Given the description of an element on the screen output the (x, y) to click on. 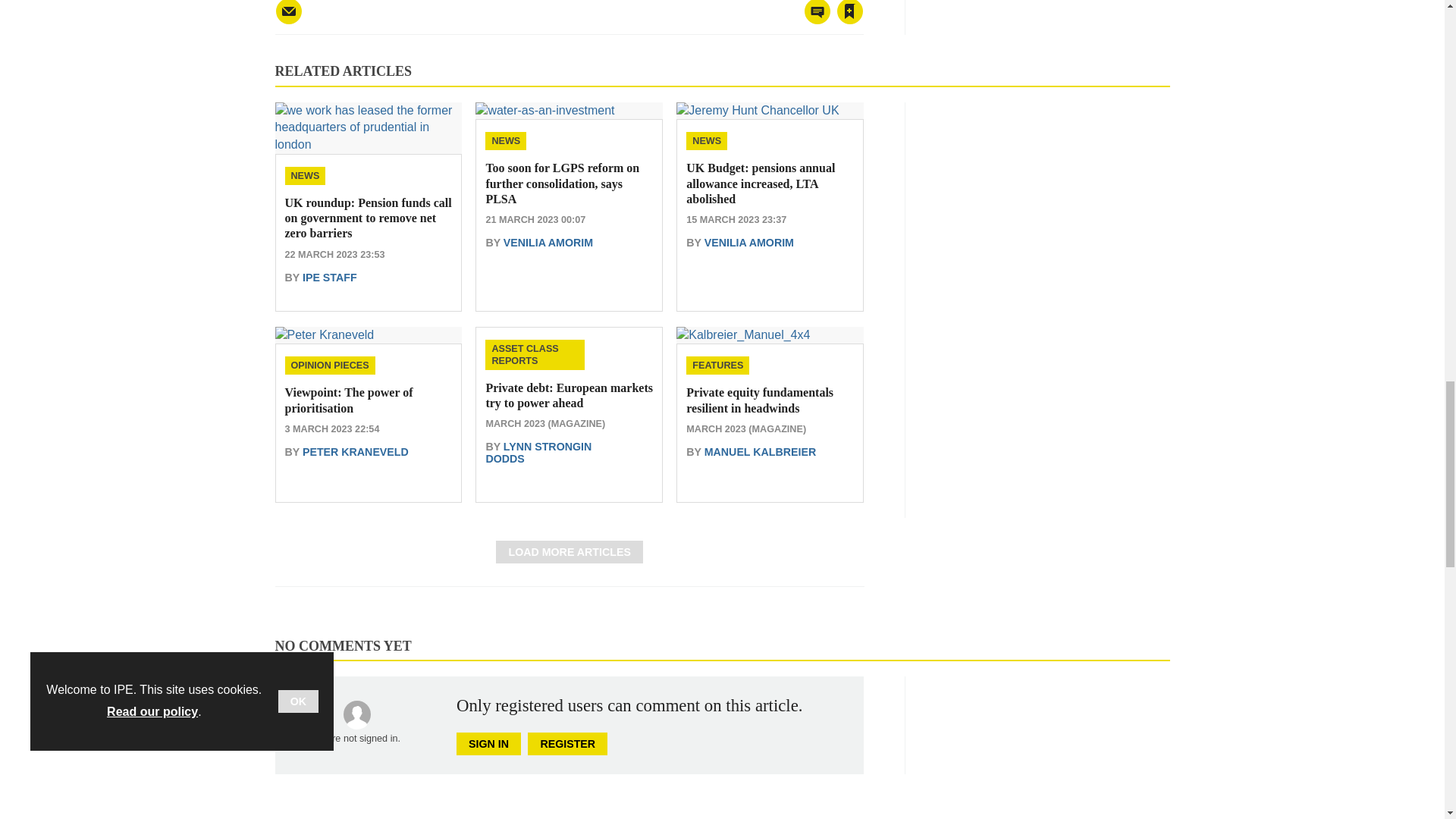
Email this article (288, 12)
